Given the description of an element on the screen output the (x, y) to click on. 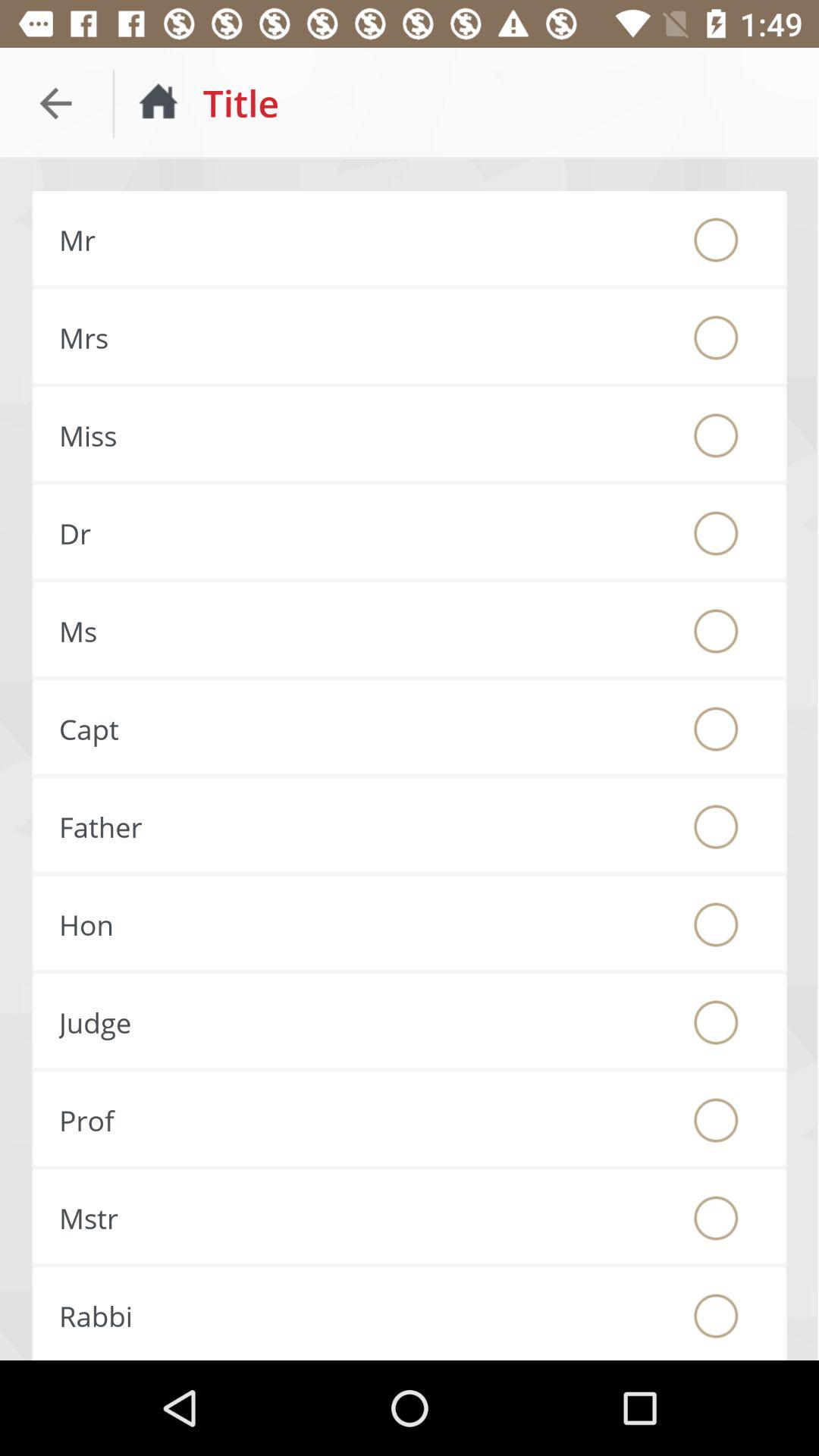
fill identifier bubble (715, 435)
